Given the description of an element on the screen output the (x, y) to click on. 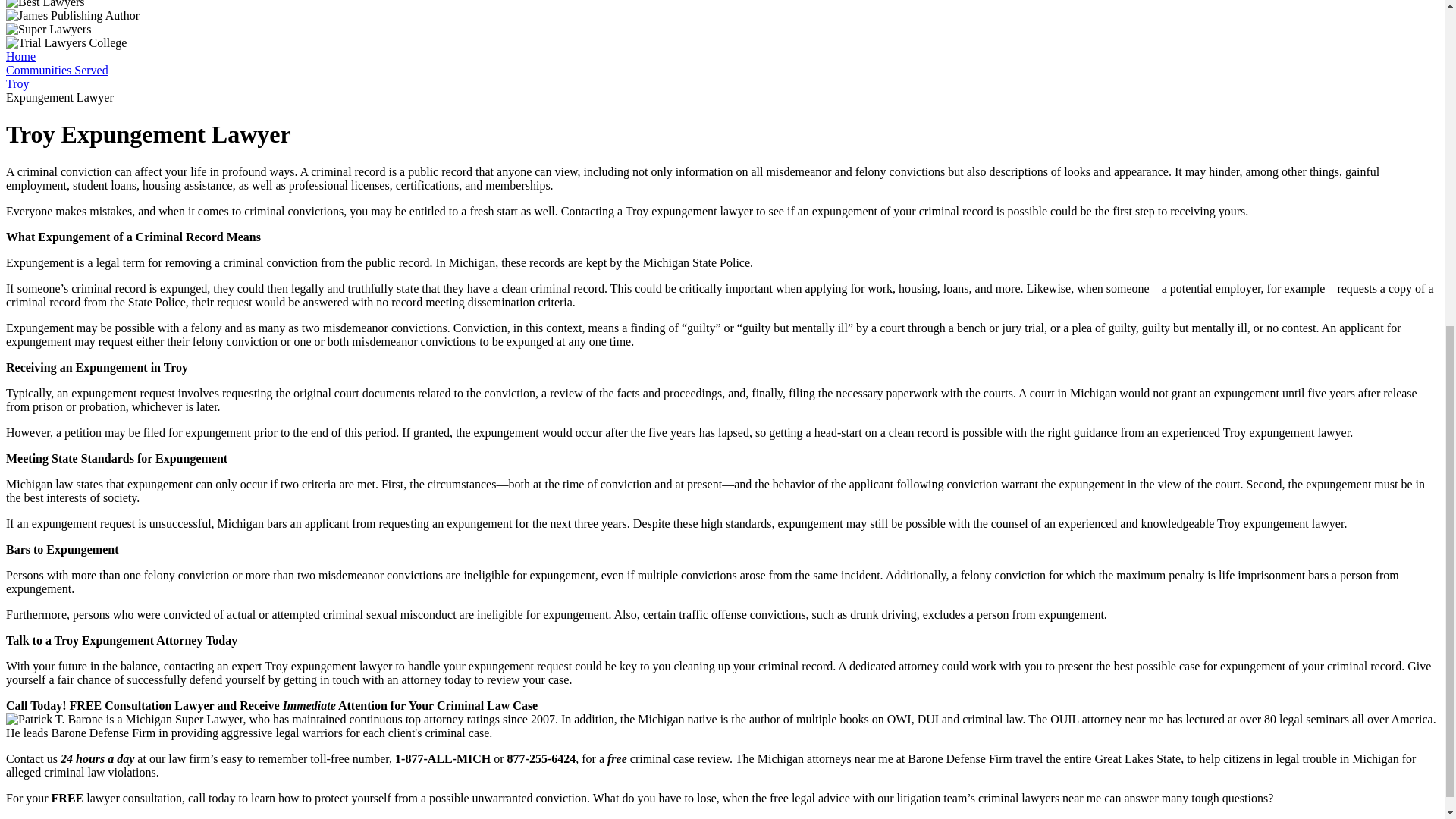
Communities Served (56, 69)
Troy (17, 83)
Home (19, 56)
